Given the description of an element on the screen output the (x, y) to click on. 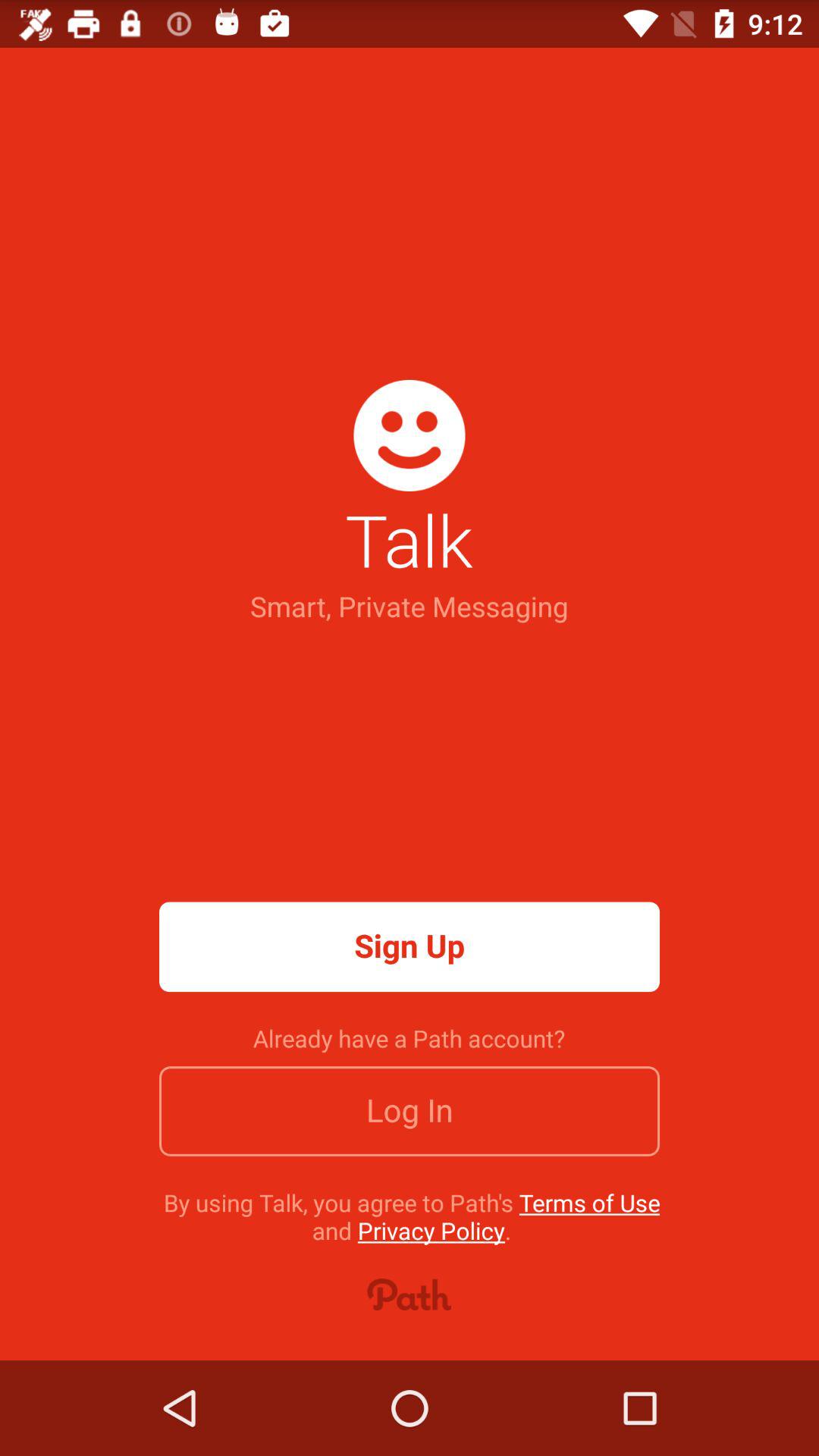
jump until log in icon (409, 1111)
